Given the description of an element on the screen output the (x, y) to click on. 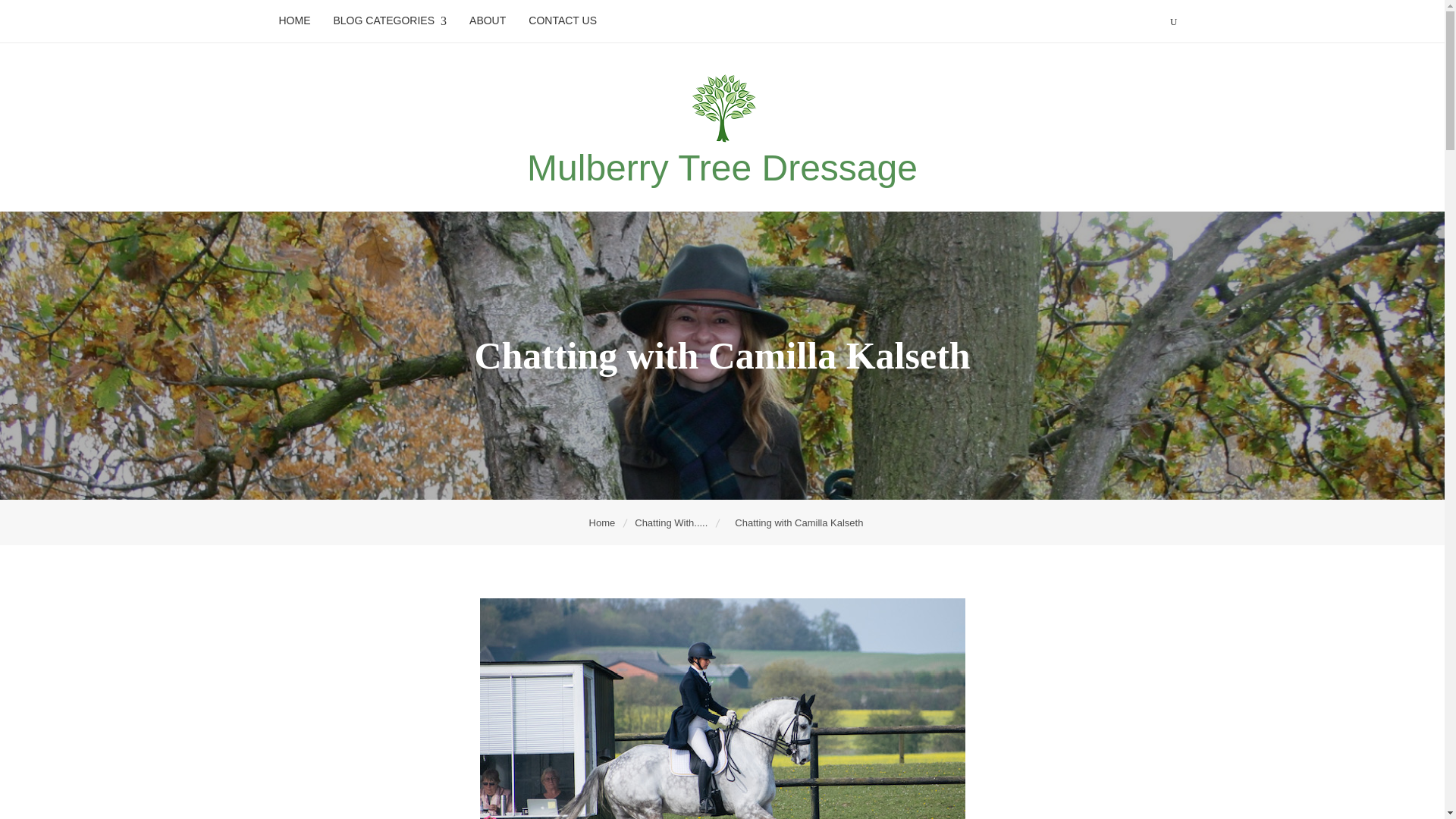
Search (341, 18)
Mulberry Tree Dressage (722, 168)
ABOUT (487, 20)
HOME (293, 20)
CONTACT US (562, 20)
Search (113, 15)
Home (603, 522)
Chatting With..... (672, 522)
BLOG CATEGORIES (389, 21)
